Given the description of an element on the screen output the (x, y) to click on. 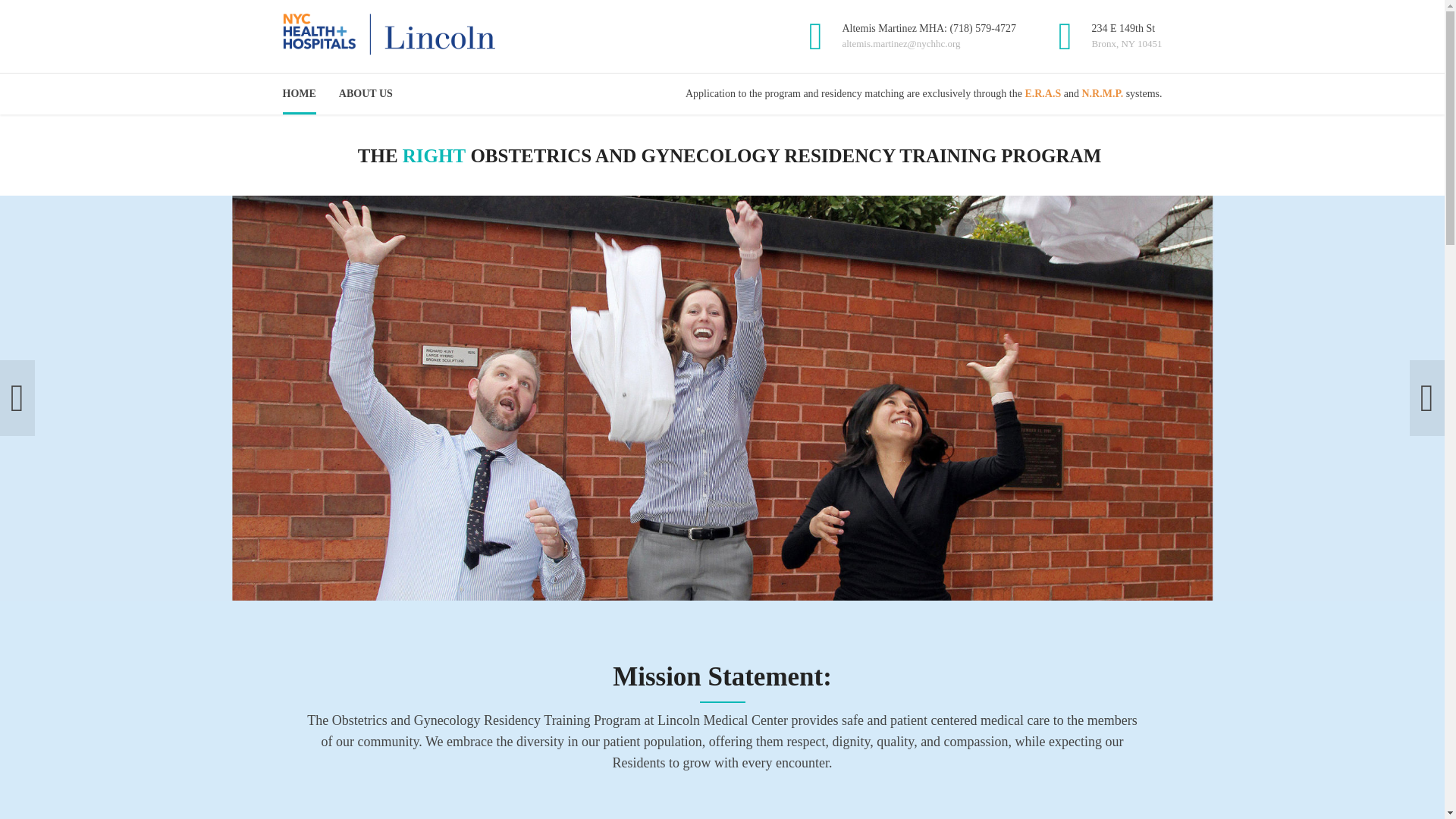
ABOUT US (366, 93)
N.R.M.P. (1101, 93)
E.R.A.S (1043, 93)
